Given the description of an element on the screen output the (x, y) to click on. 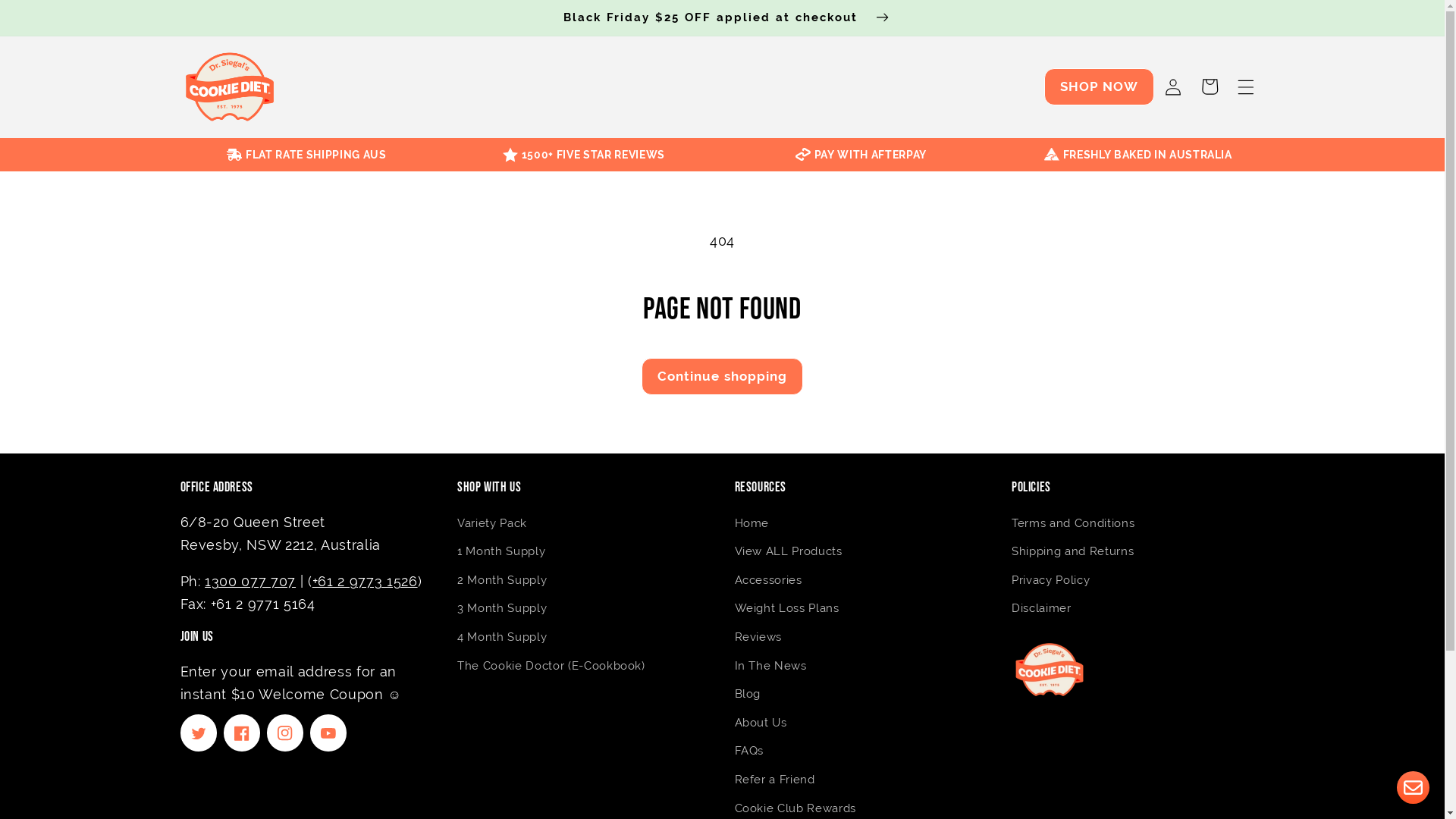
1 Month Supply Element type: text (501, 551)
Weight Loss Plans Element type: text (786, 608)
4 Month Supply Element type: text (501, 637)
Accessories Element type: text (767, 579)
YouTube Element type: text (328, 732)
The Cookie Doctor (E-Cookbook) Element type: text (551, 665)
SHOP
 NOW Element type: text (1099, 86)
Twitter Element type: text (198, 732)
1300 077 707 Element type: text (249, 581)
Variety Pack Element type: text (492, 525)
Reviews Element type: text (757, 637)
Disclaimer Element type: text (1041, 608)
Shipping and Returns Element type: text (1072, 551)
Facebook Element type: text (241, 732)
FAQs Element type: text (748, 751)
Refer a Friend Element type: text (774, 779)
In The News Element type: text (770, 665)
Log in Element type: text (1172, 86)
Home Element type: text (751, 525)
Blog Element type: text (747, 694)
Privacy Policy Element type: text (1050, 579)
View ALL Products Element type: text (787, 551)
Cart Element type: text (1209, 86)
+61 2 9773 1526 Element type: text (364, 581)
About Us Element type: text (760, 722)
Continue shopping Element type: text (722, 376)
2 Month Supply Element type: text (501, 579)
Terms and Conditions Element type: text (1072, 525)
Instagram Element type: text (284, 732)
3 Month Supply Element type: text (501, 608)
